Given the description of an element on the screen output the (x, y) to click on. 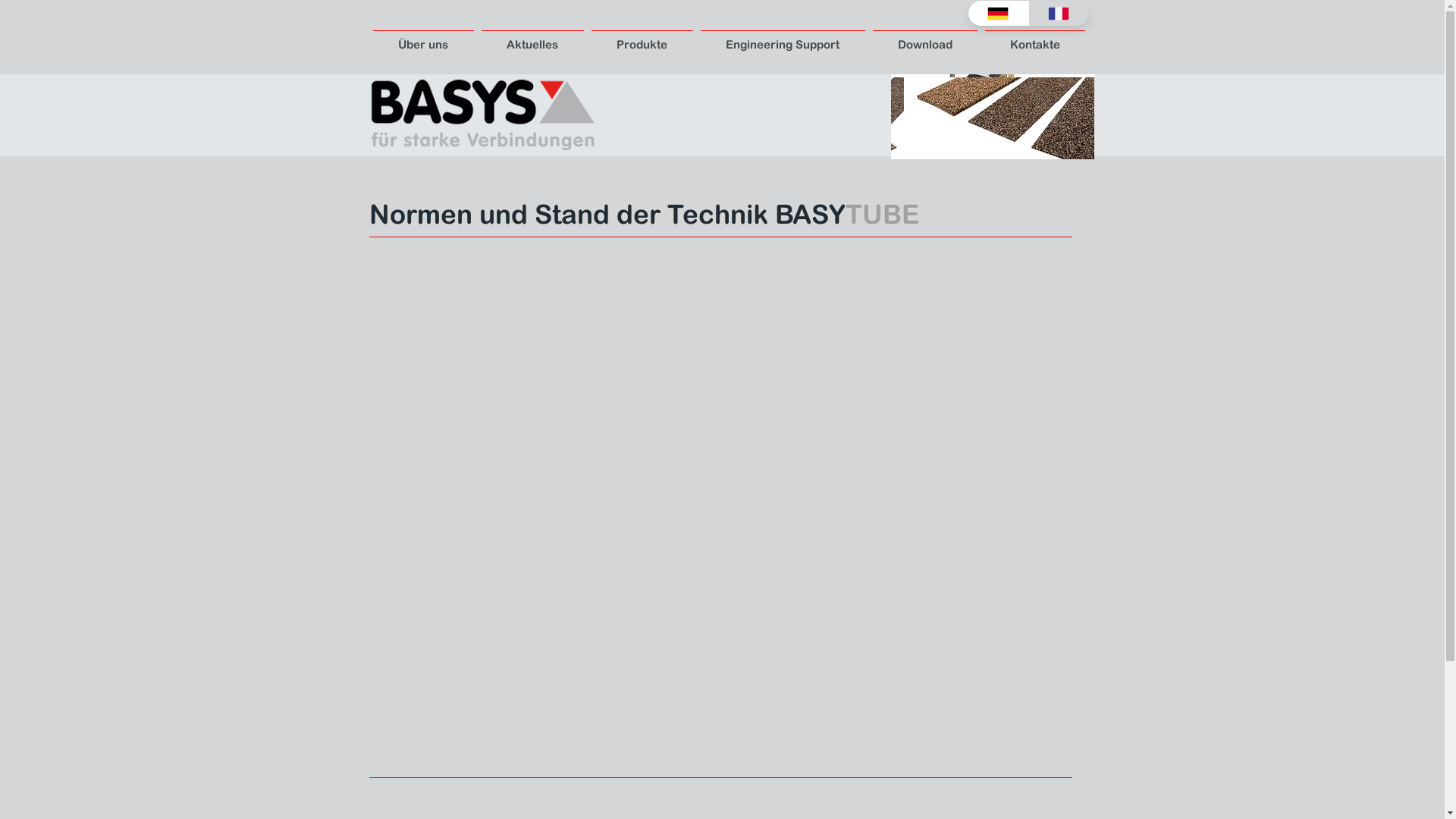
External YouTube Element type: hover (721, 509)
